Given the description of an element on the screen output the (x, y) to click on. 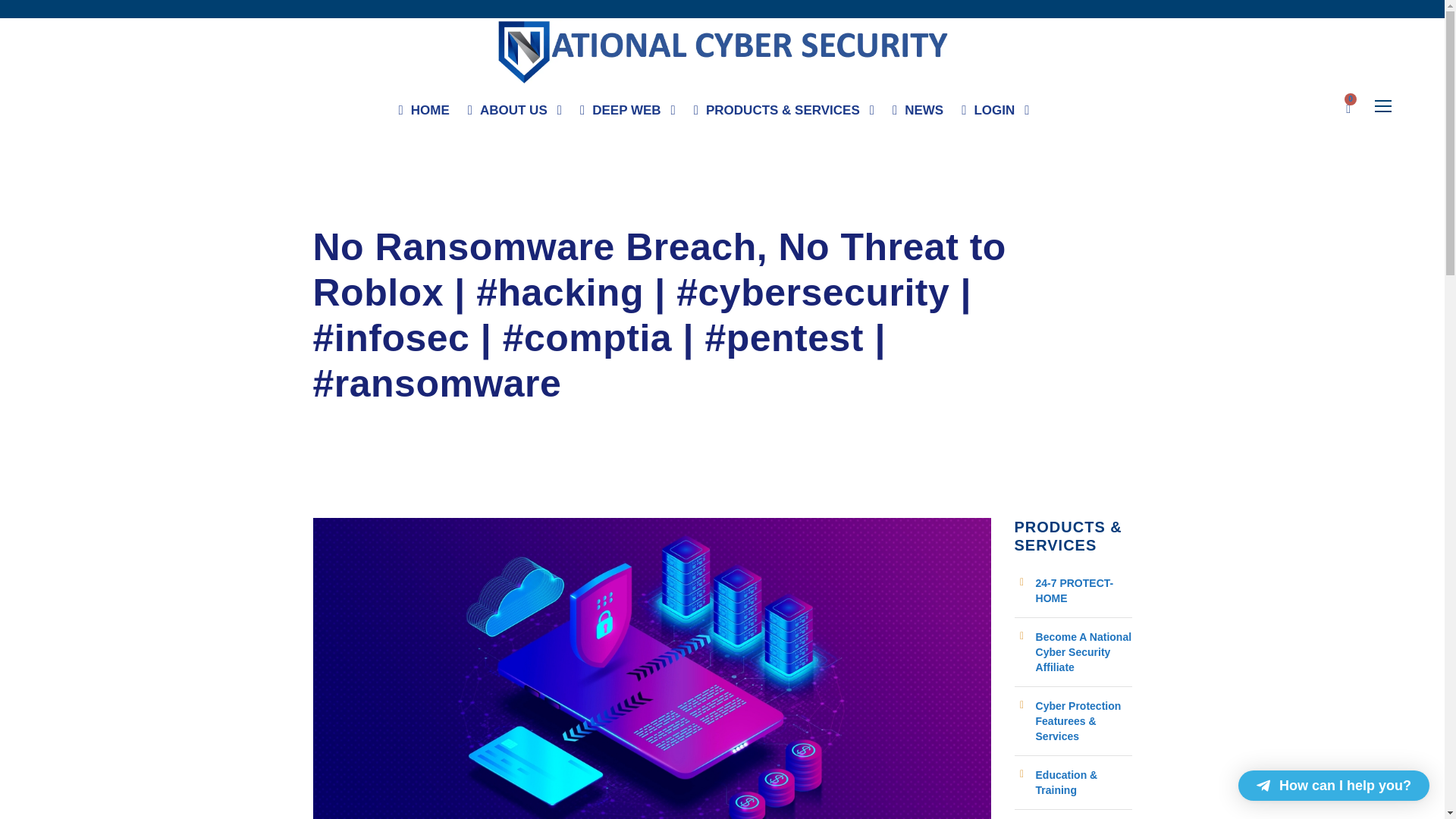
HOME (423, 114)
ABOUT US (514, 114)
Posts by Natioinal Cyber Security Training Academy Corp (443, 211)
DEEP WEB (627, 114)
